Given the description of an element on the screen output the (x, y) to click on. 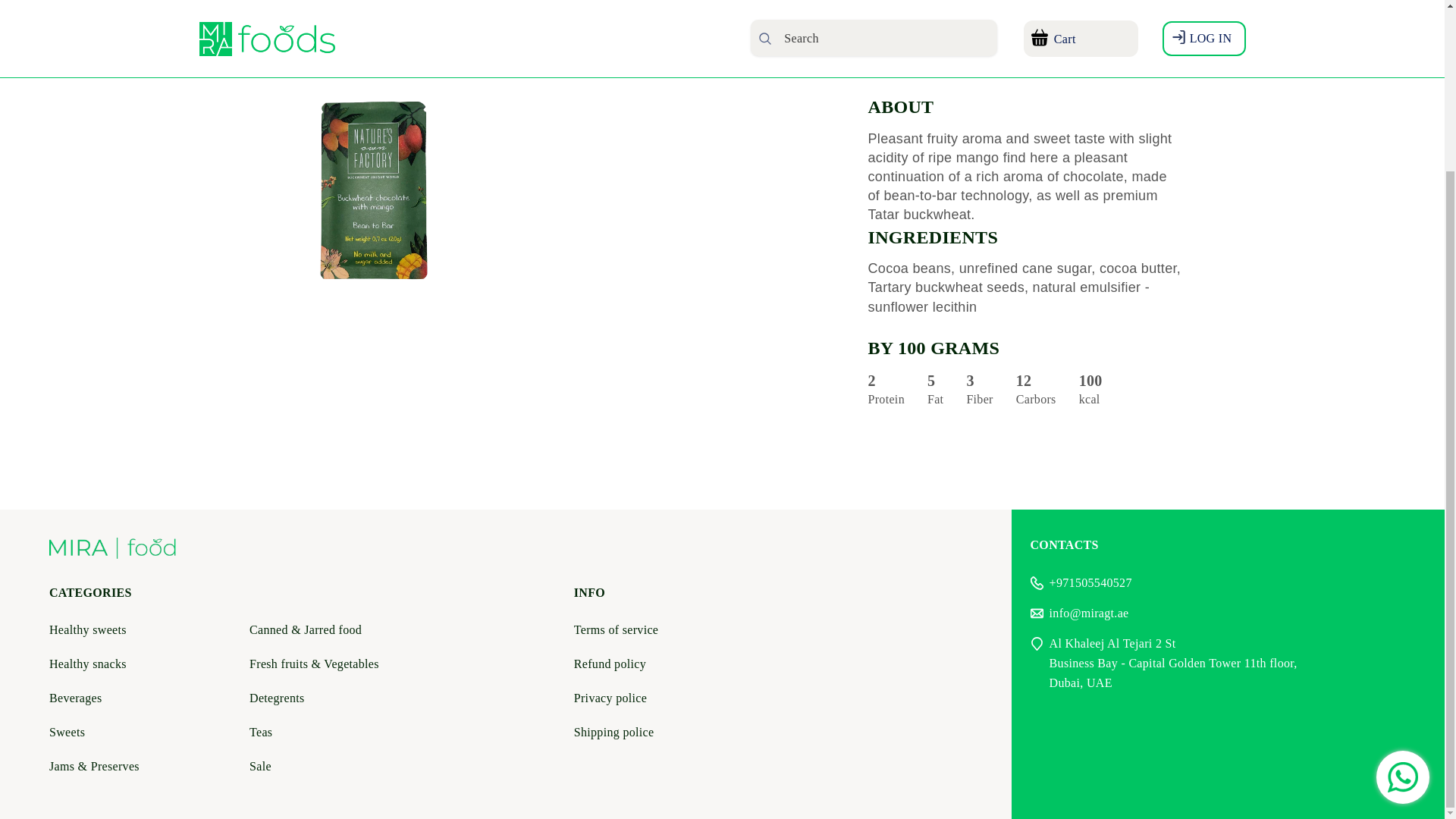
Healthy sweets (87, 630)
Add to Cart (1099, 25)
Healthy snacks (87, 663)
